Given the description of an element on the screen output the (x, y) to click on. 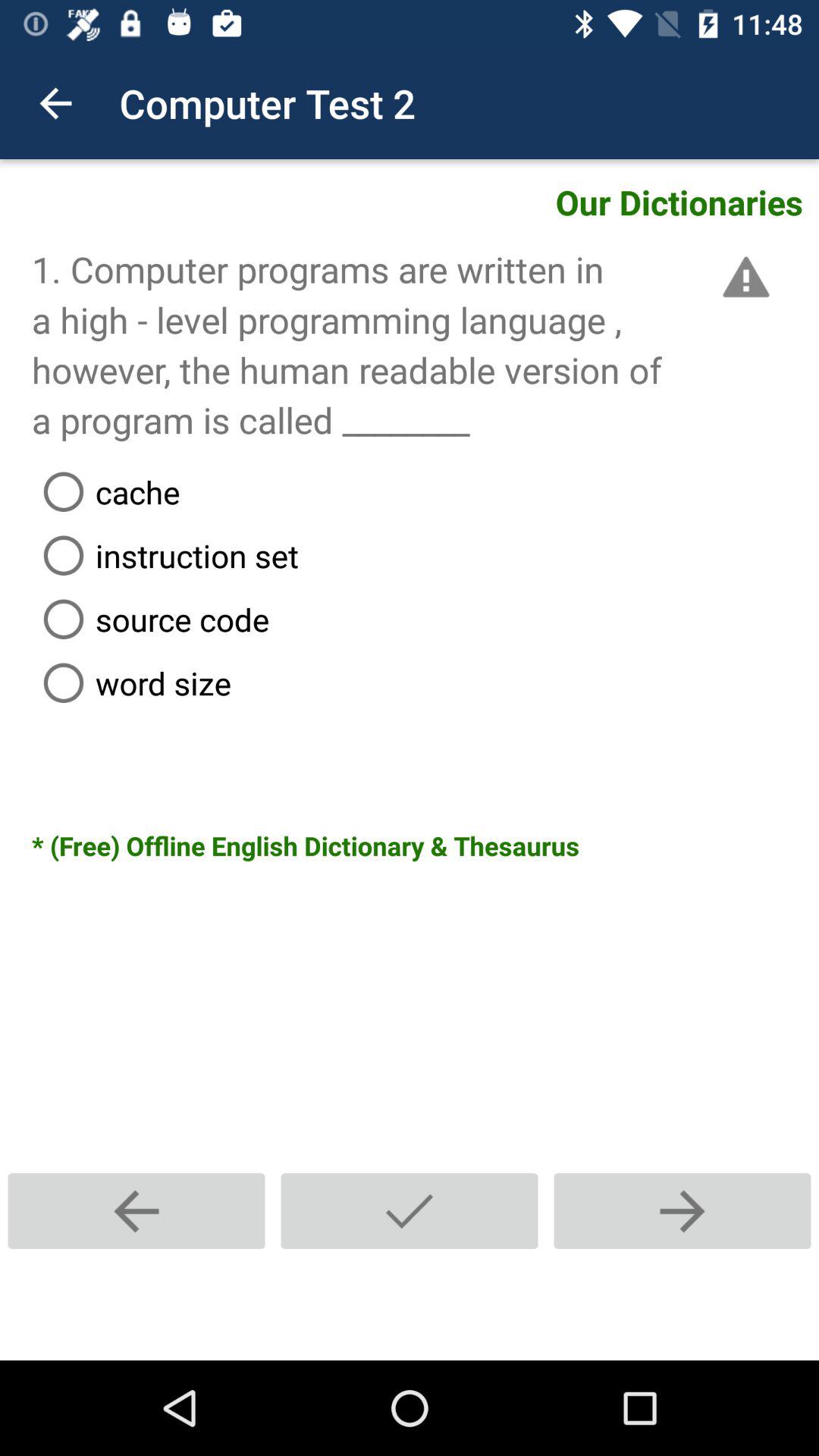
go back (136, 1210)
